Given the description of an element on the screen output the (x, y) to click on. 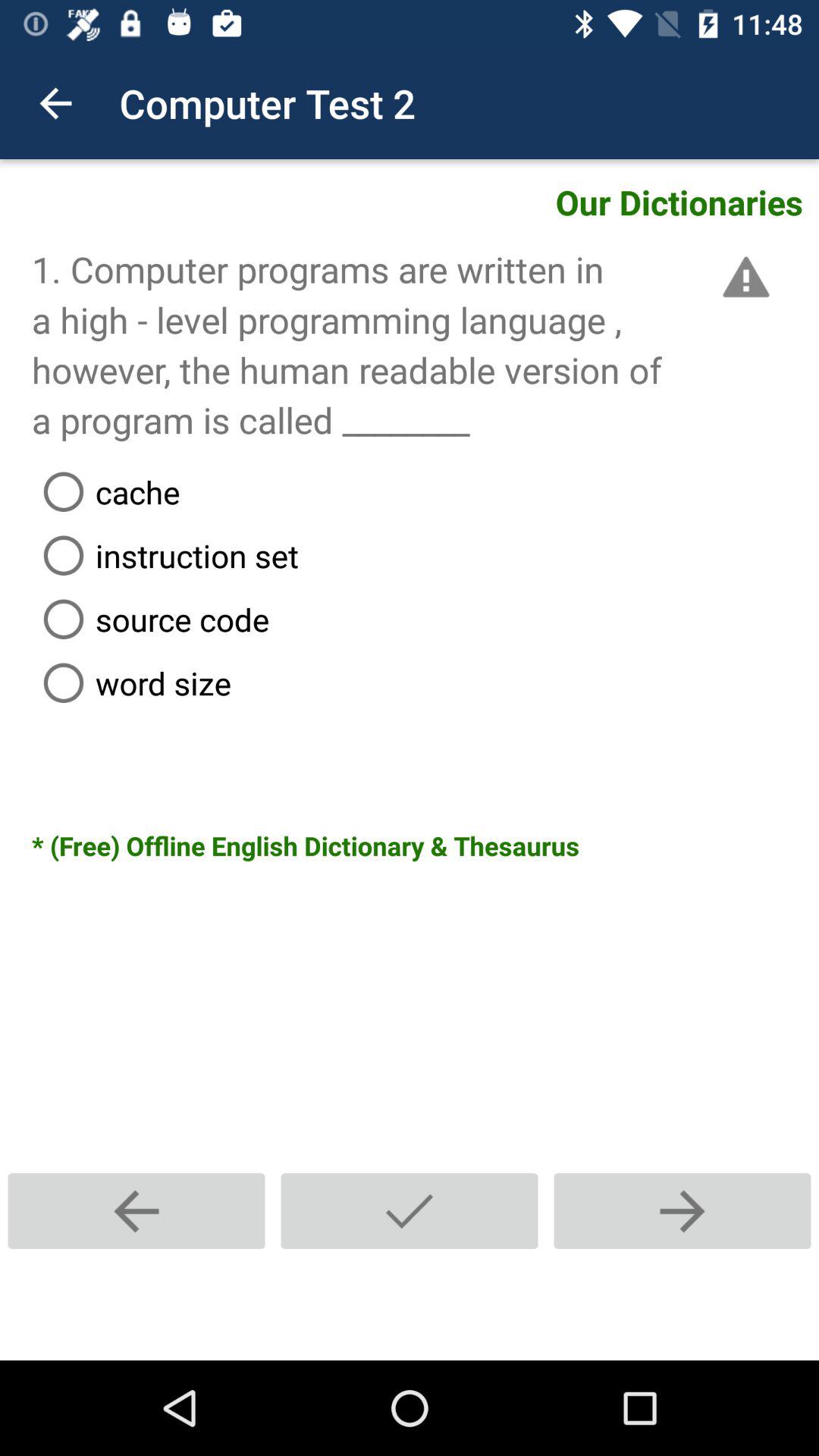
go back (136, 1210)
